Given the description of an element on the screen output the (x, y) to click on. 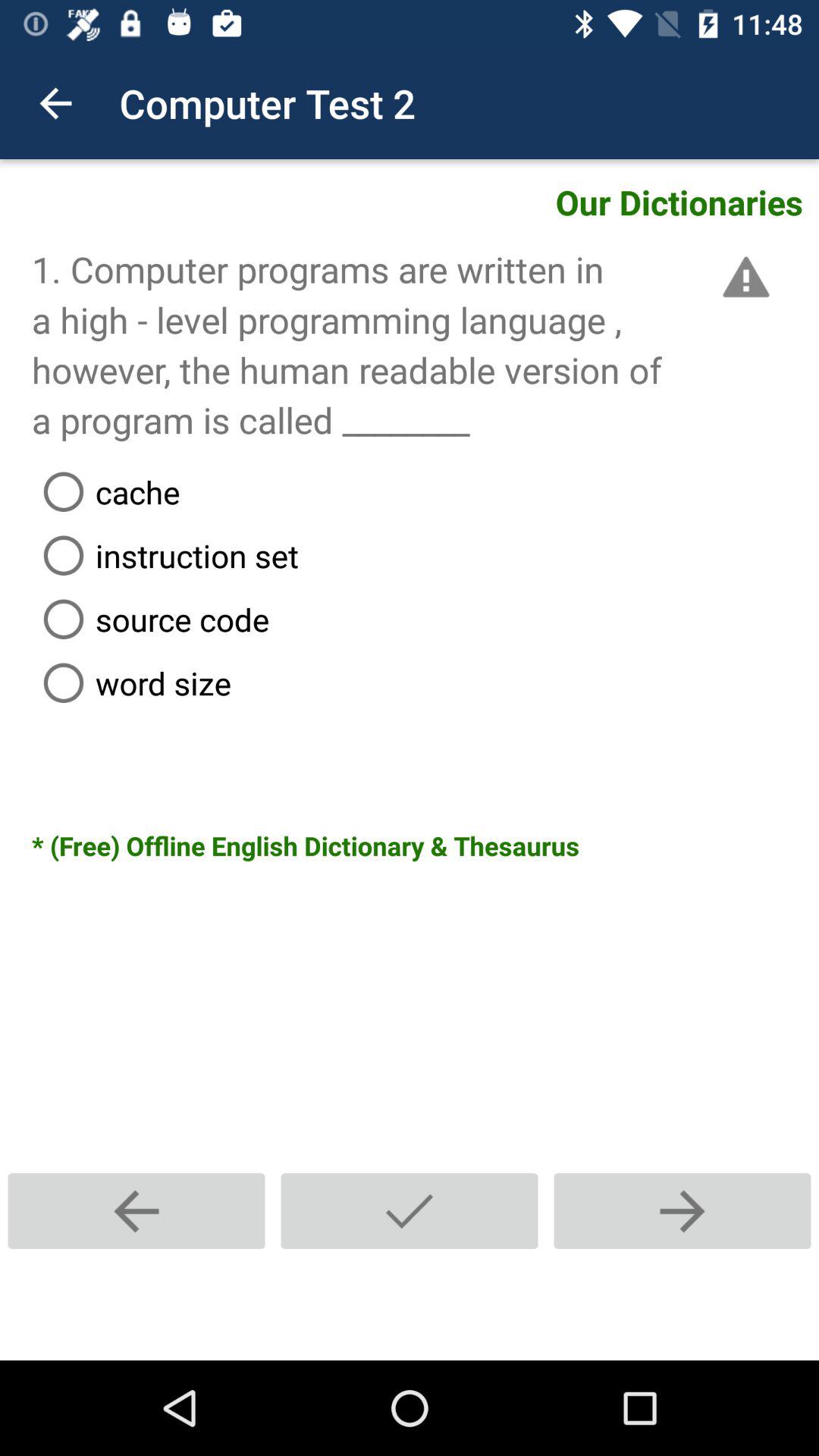
go back (136, 1210)
